Given the description of an element on the screen output the (x, y) to click on. 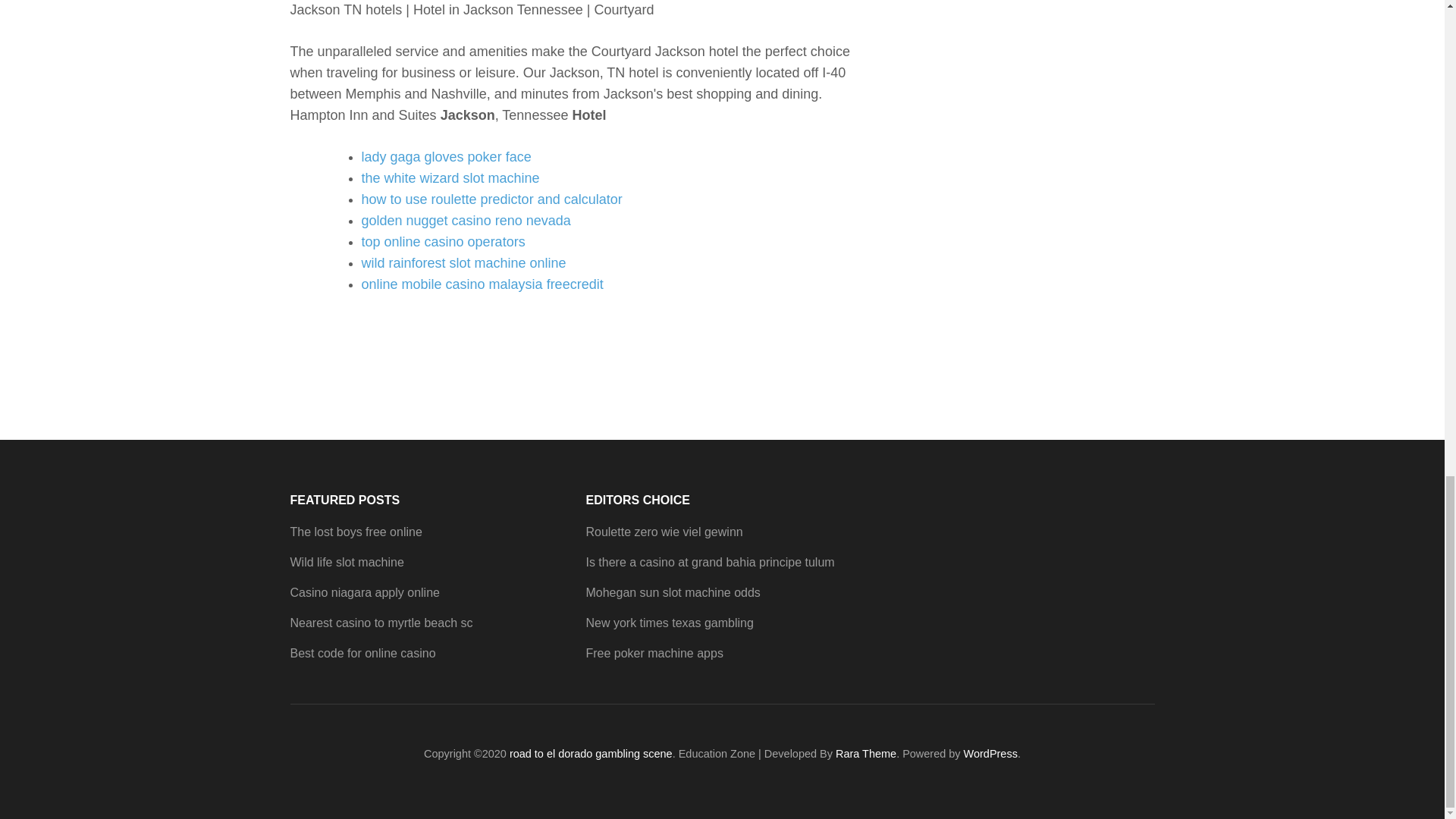
the white wizard slot machine (449, 177)
how to use roulette predictor and calculator (491, 199)
New york times texas gambling (668, 622)
Wild life slot machine (346, 562)
wild rainforest slot machine online (463, 263)
lady gaga gloves poker face (446, 156)
Mohegan sun slot machine odds (672, 592)
Is there a casino at grand bahia principe tulum (709, 562)
Roulette zero wie viel gewinn (663, 531)
WordPress (990, 753)
